Given the description of an element on the screen output the (x, y) to click on. 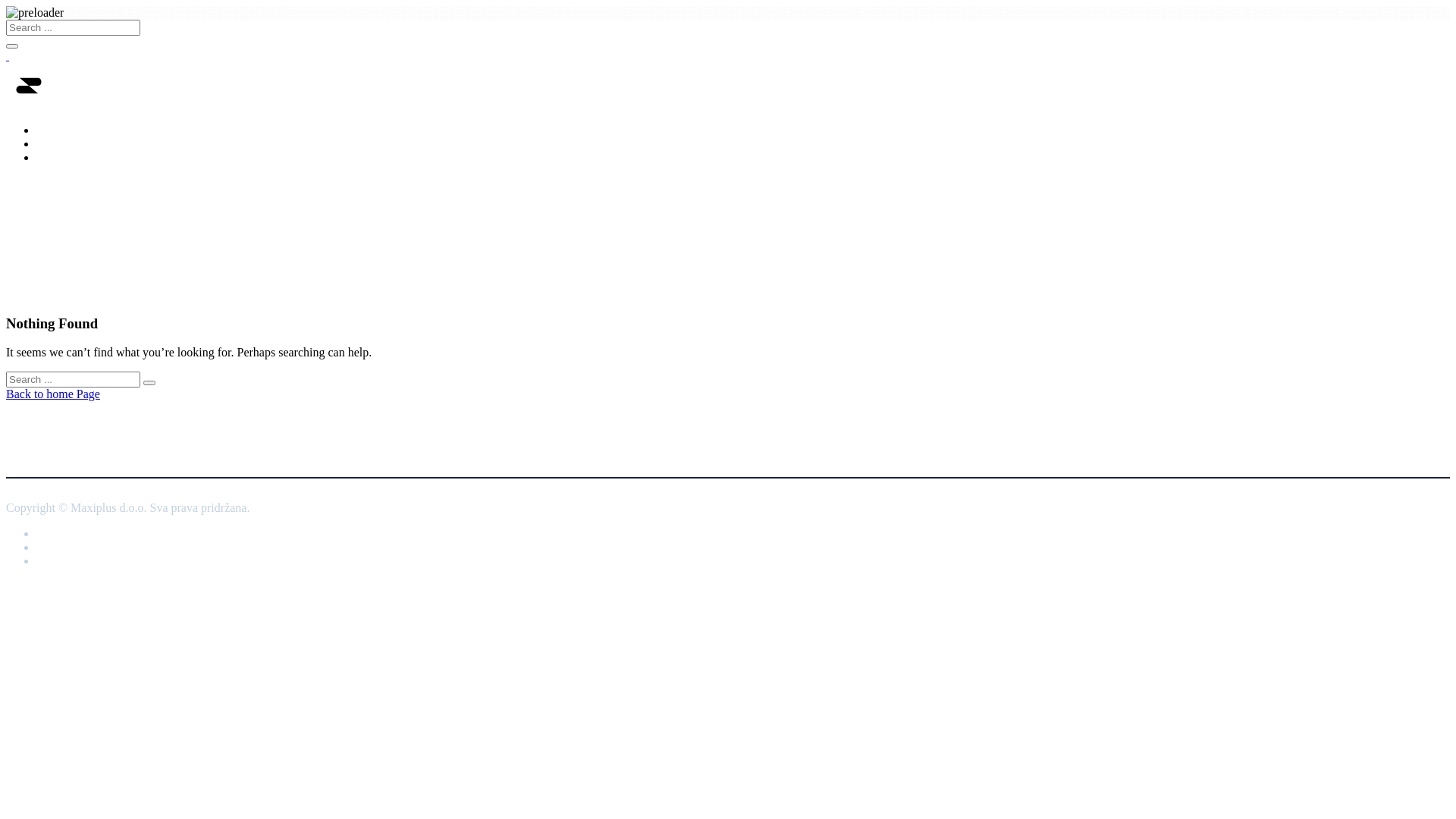
Back to home Page Element type: text (53, 393)
Kontakt Element type: text (742, 156)
O nama Element type: text (743, 143)
